Given the description of an element on the screen output the (x, y) to click on. 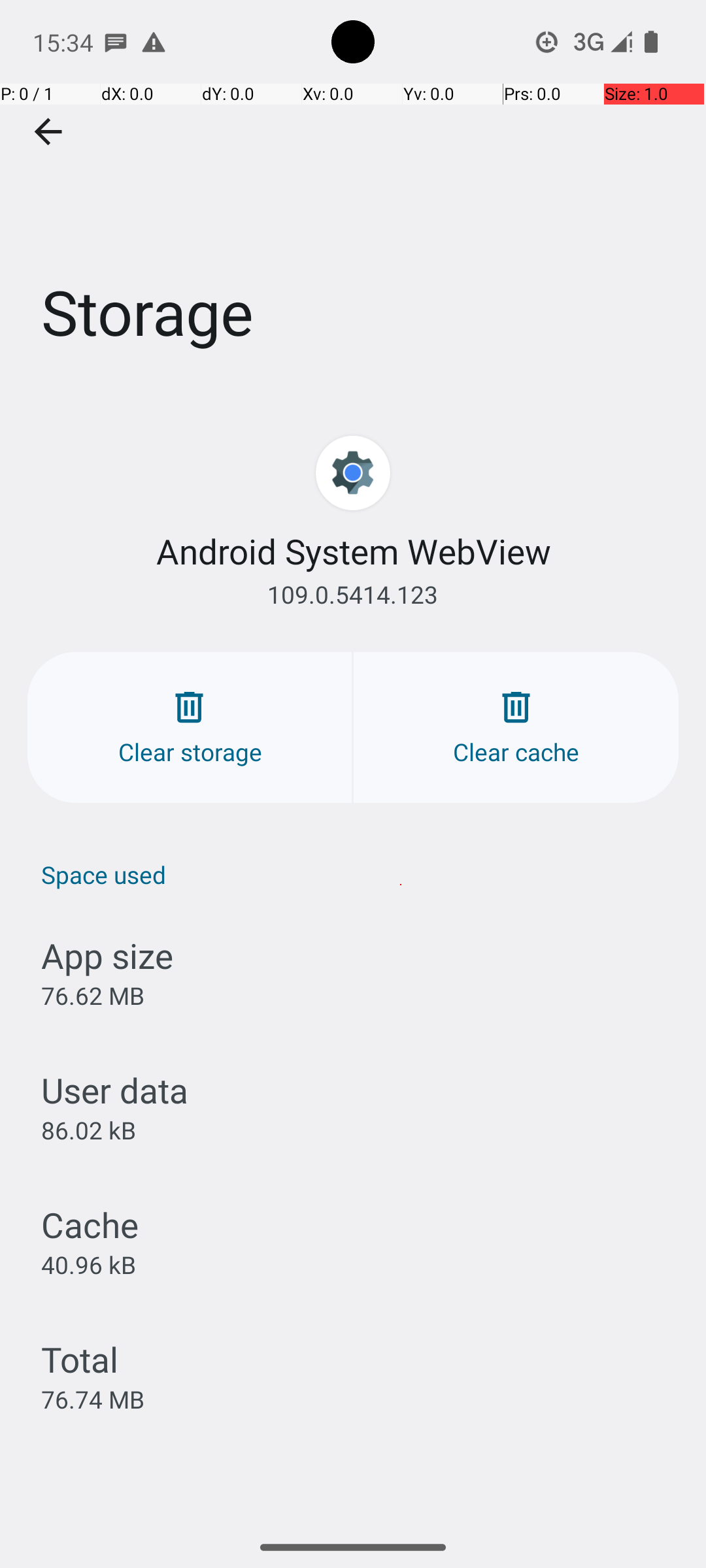
Storage Element type: android.widget.FrameLayout (353, 195)
Android System WebView Element type: android.widget.TextView (352, 550)
109.0.5414.123 Element type: android.widget.TextView (352, 593)
Clear storage Element type: android.widget.Button (189, 727)
Clear cache Element type: android.widget.Button (515, 727)
Space used Element type: android.widget.TextView (359, 874)
App size Element type: android.widget.TextView (107, 955)
76.62 MB Element type: android.widget.TextView (92, 995)
User data Element type: android.widget.TextView (114, 1089)
86.02 kB Element type: android.widget.TextView (88, 1129)
Cache Element type: android.widget.TextView (89, 1224)
40.96 kB Element type: android.widget.TextView (88, 1264)
Total Element type: android.widget.TextView (79, 1359)
76.74 MB Element type: android.widget.TextView (92, 1398)
